Given the description of an element on the screen output the (x, y) to click on. 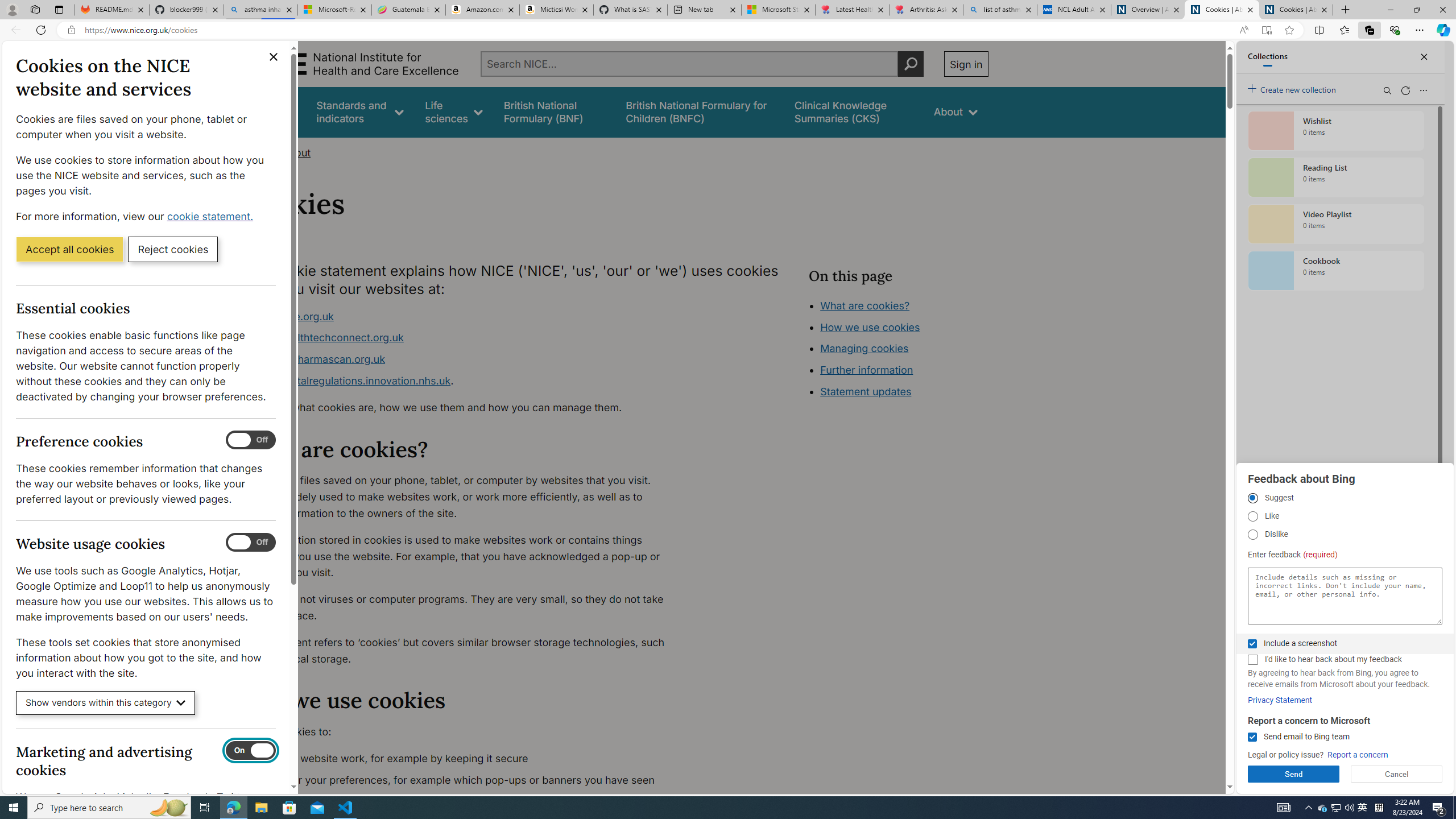
Further information (865, 369)
I'd like to hear back about my feedback (1252, 659)
How we use cookies (909, 389)
Home> (258, 152)
Website usage cookies (250, 542)
